Given the description of an element on the screen output the (x, y) to click on. 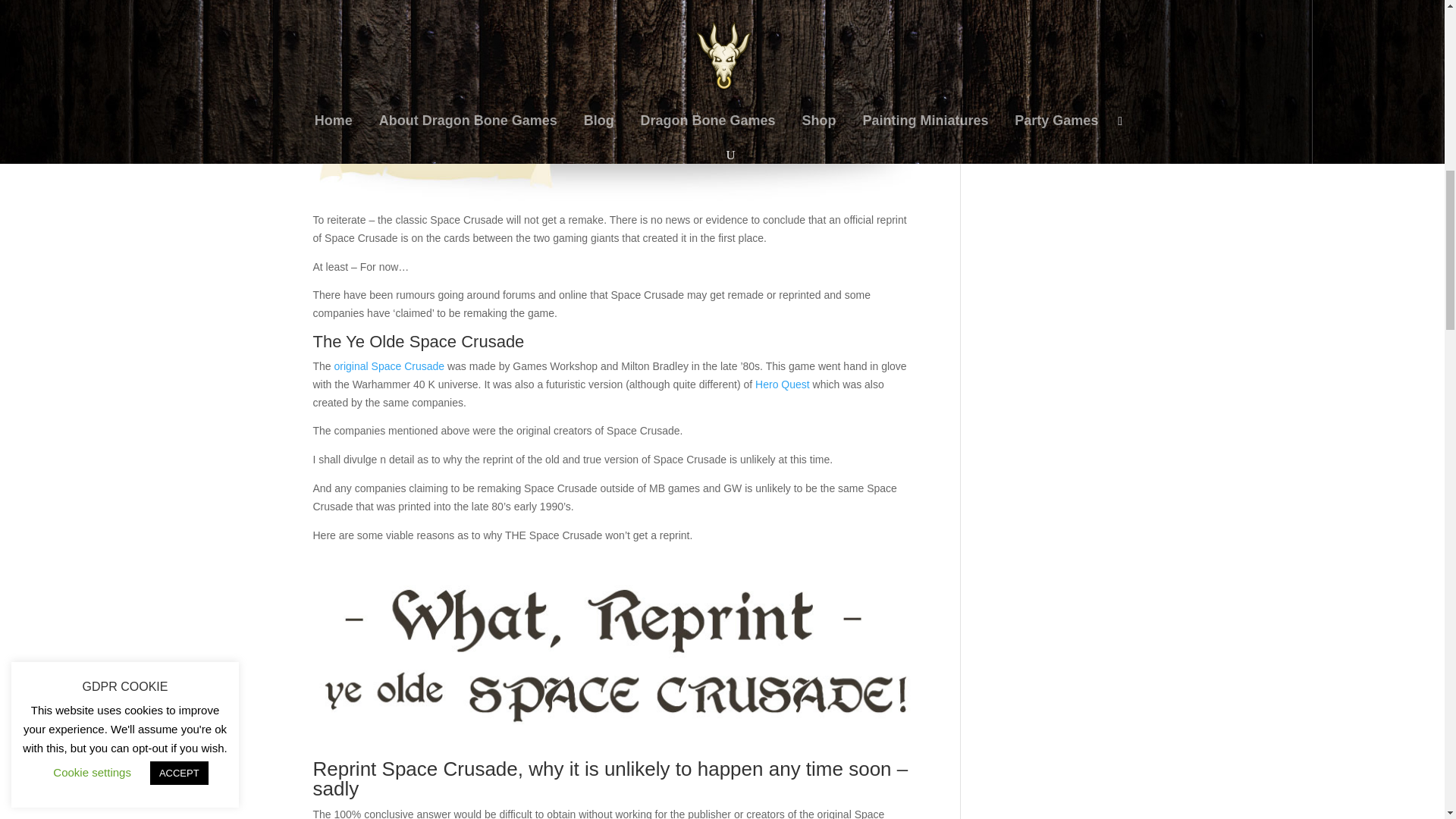
Hero Quest (782, 384)
original Space Crusade (389, 366)
